Given the description of an element on the screen output the (x, y) to click on. 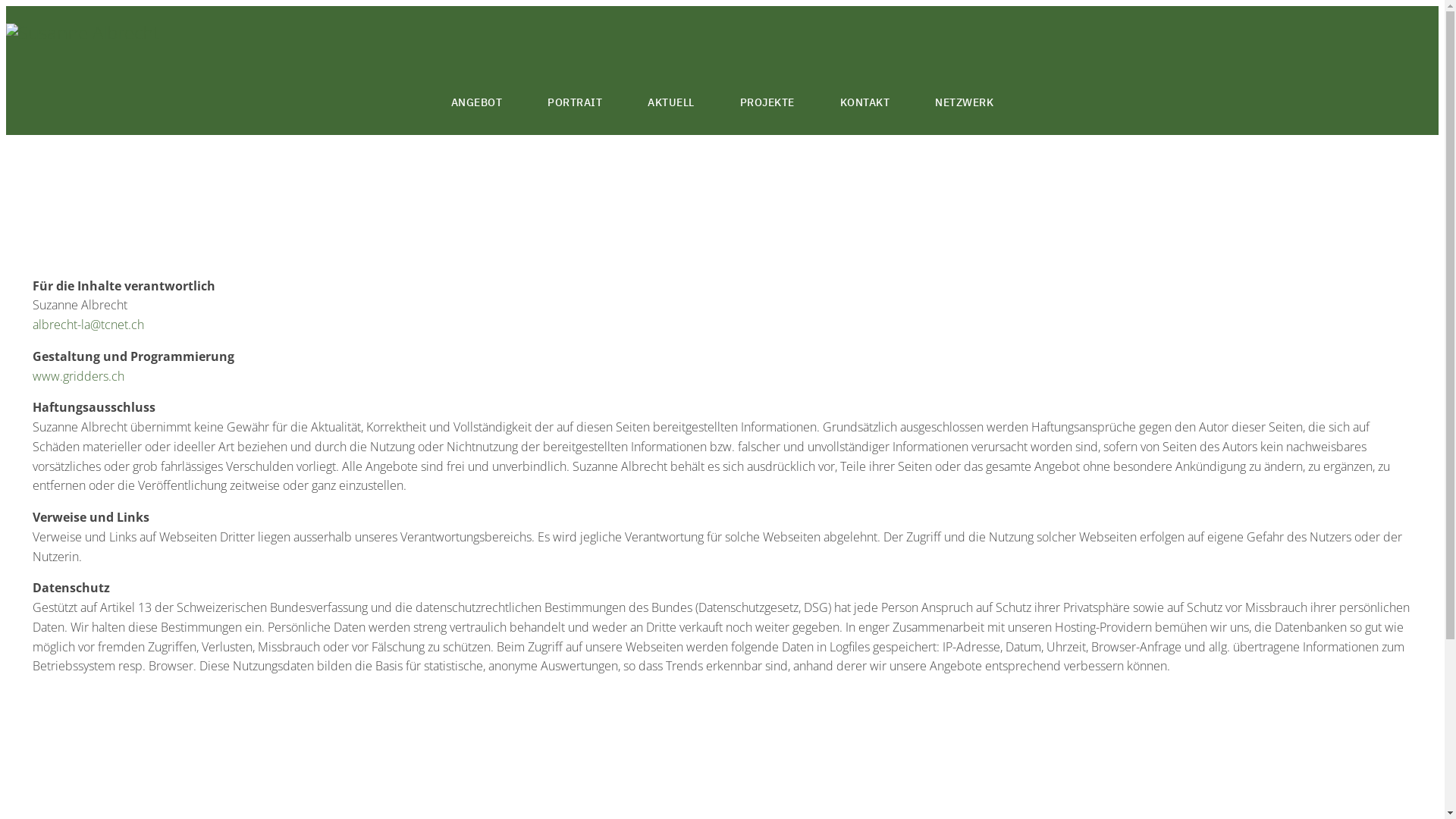
NETZWERK Element type: text (963, 102)
AKTUELL Element type: text (671, 102)
albrecht-la@tcnet.ch Element type: text (88, 324)
PORTRAIT Element type: text (574, 102)
KONTAKT Element type: text (864, 102)
PROJEKTE Element type: text (767, 102)
ANGEBOT Element type: text (476, 102)
www.gridders.ch Element type: text (78, 375)
